Given the description of an element on the screen output the (x, y) to click on. 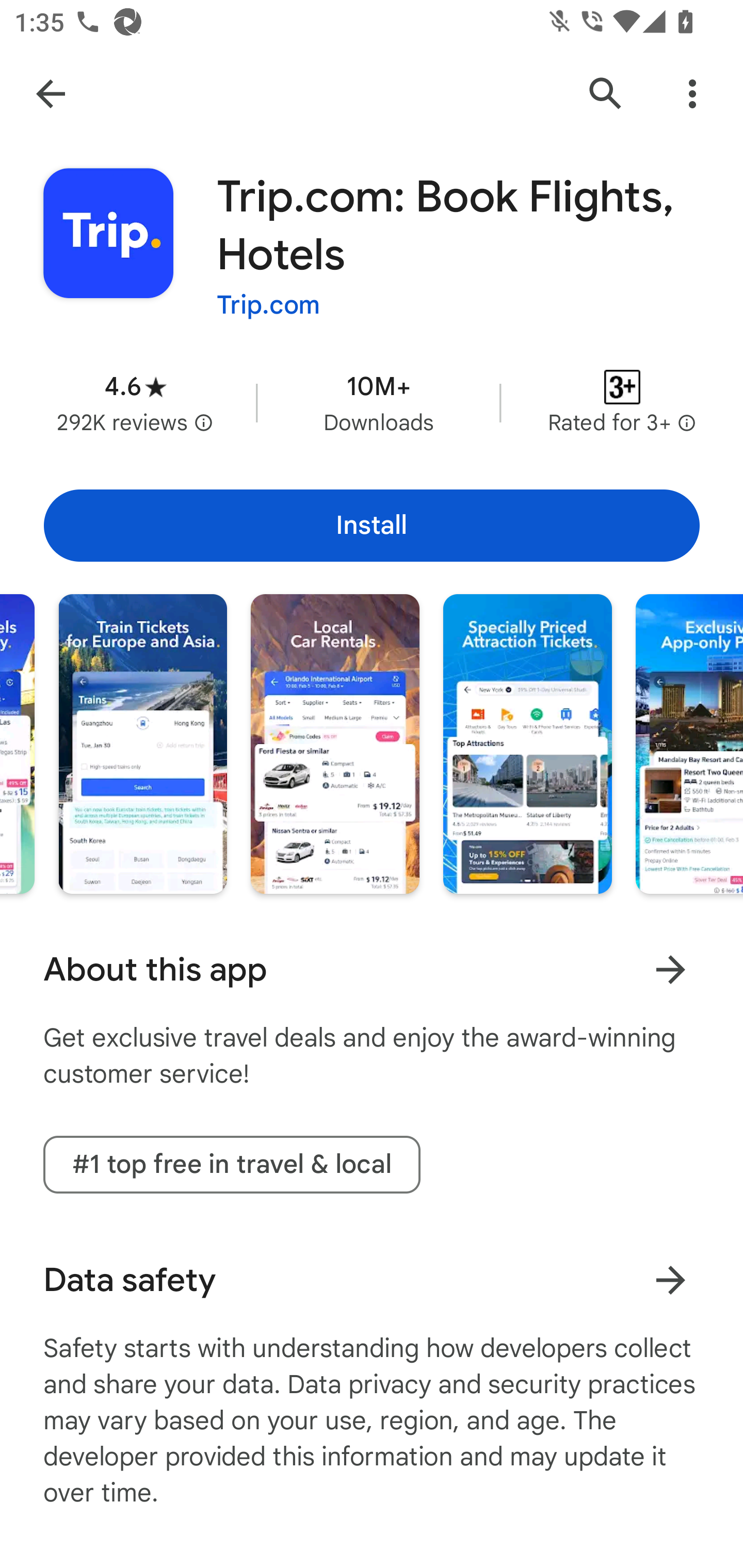
Navigate up (50, 93)
Search Google Play (605, 93)
More Options (692, 93)
Trip.com (268, 304)
Average rating 4.6 stars in 292 thousand reviews (135, 402)
Content rating Rated for 3+ (622, 402)
Install (371, 525)
Screenshot "4" of "8" (142, 743)
Screenshot "5" of "8" (335, 743)
Screenshot "6" of "8" (527, 743)
Screenshot "7" of "8" (689, 743)
About this app Learn more About this app (371, 969)
Learn more About this app (670, 969)
#1 top free in travel & local tag (231, 1164)
Data safety Learn more about data safety (371, 1280)
Learn more about data safety (670, 1280)
